Given the description of an element on the screen output the (x, y) to click on. 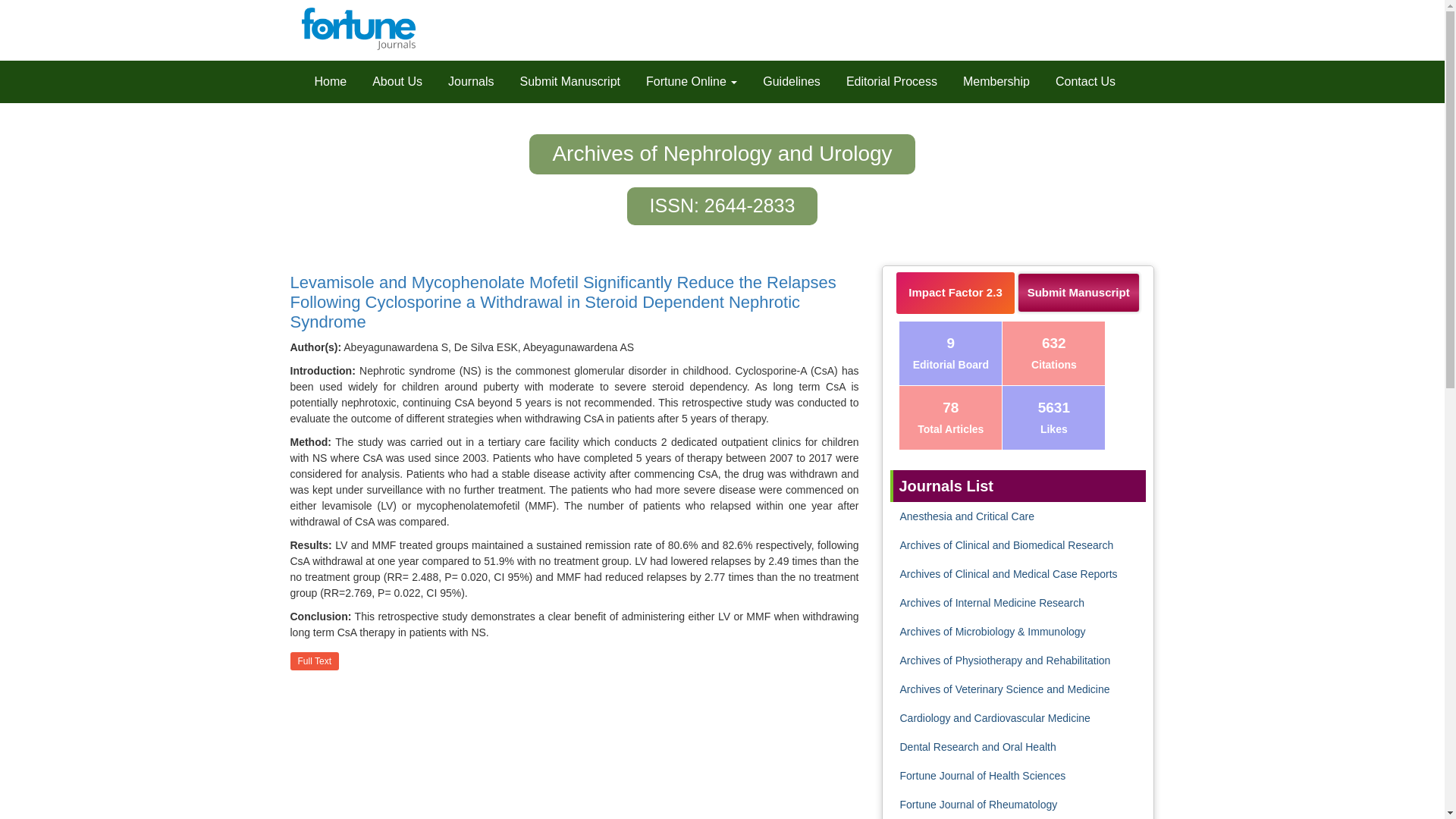
Journals (470, 81)
Submit Manuscript (1078, 292)
Fortune Journal of Rheumatology (978, 804)
Archives of Clinical and Medical Case Reports (1007, 573)
Full Text (313, 660)
view Fulltext (313, 660)
Fortune Online (691, 81)
Editorial Process (891, 81)
Archives of Internal Medicine Research (991, 603)
Submit Manuscript (1078, 295)
Impact Factor 2.3 (954, 292)
Archives of Clinical and Biomedical Research (1006, 544)
Contact Us (1085, 81)
Submit Manuscript (569, 81)
Home (330, 81)
